Given the description of an element on the screen output the (x, y) to click on. 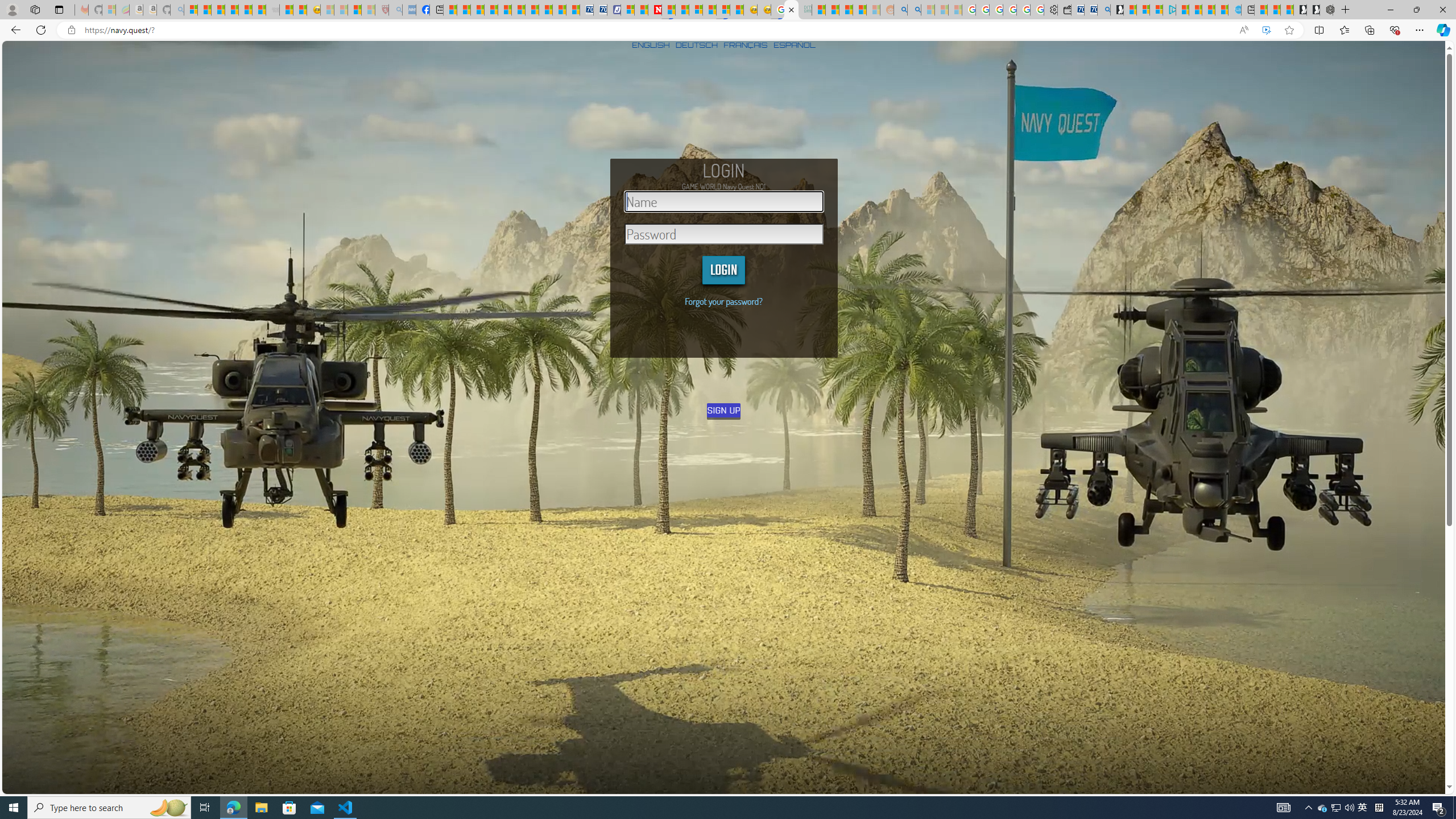
SIGN UP (724, 409)
Climate Damage Becomes Too Severe To Reverse (490, 9)
Combat Siege - Sleeping (271, 9)
